Given the description of an element on the screen output the (x, y) to click on. 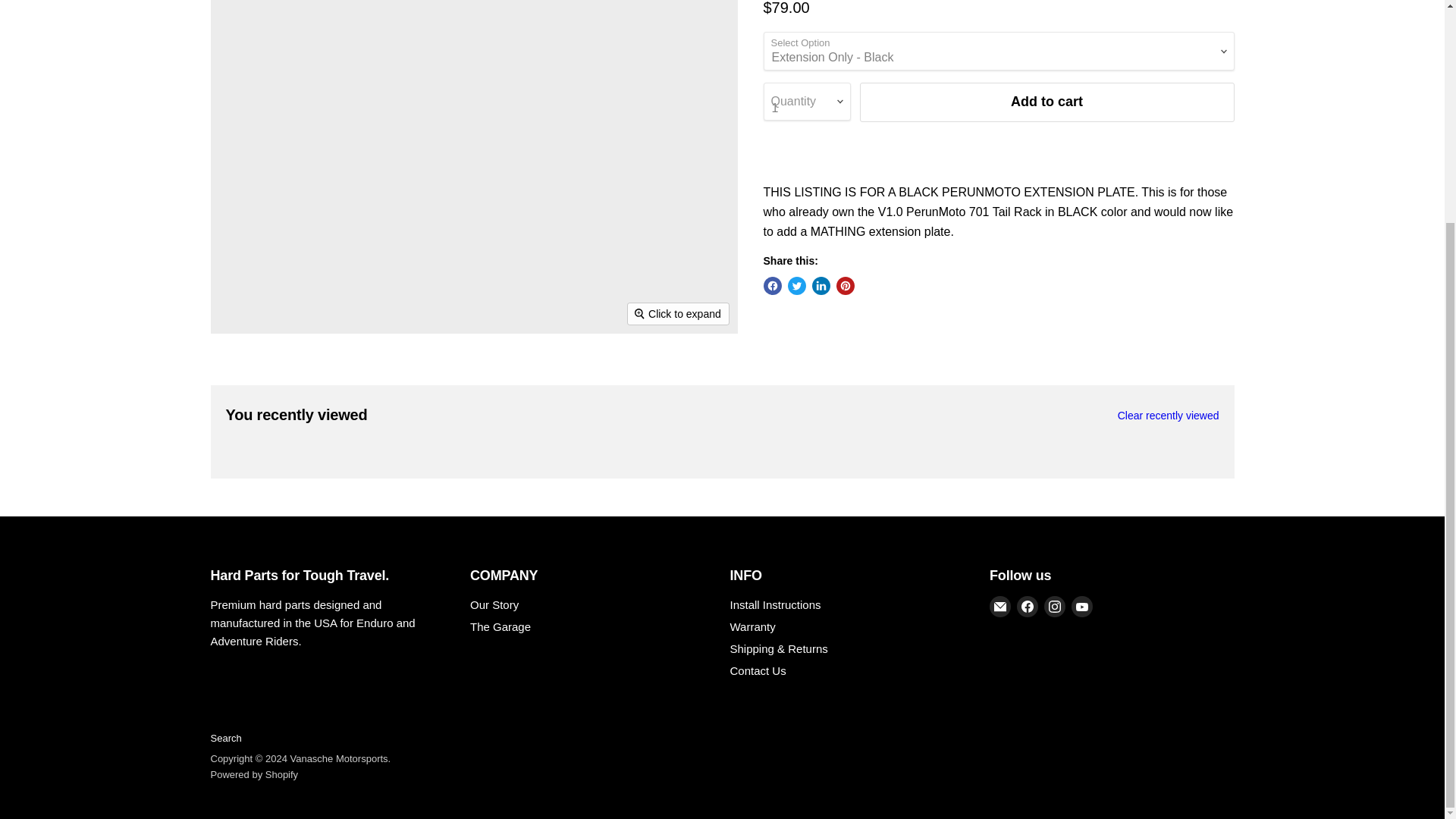
YouTube (1082, 606)
Instagram (1054, 606)
Facebook (1027, 606)
Email (1000, 606)
